Given the description of an element on the screen output the (x, y) to click on. 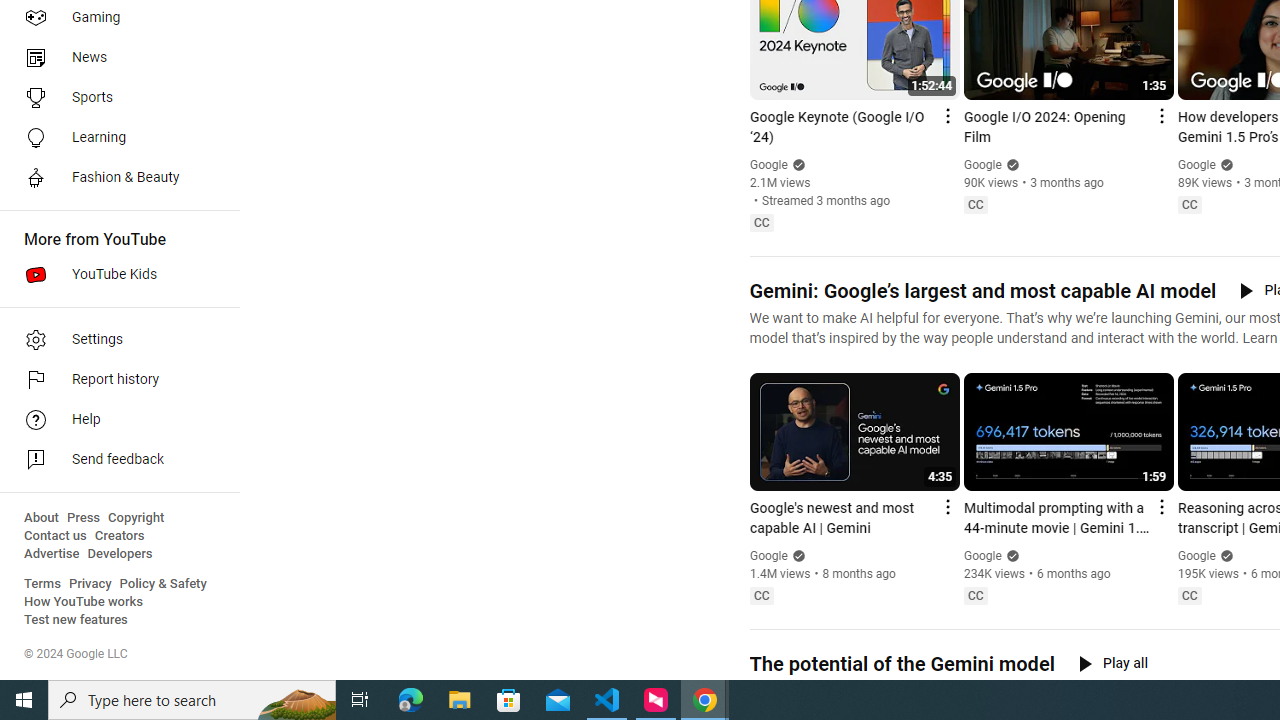
Sports (113, 97)
Copyright (136, 518)
Advertise (51, 554)
Report history (113, 380)
Creators (118, 536)
Press (83, 518)
News (113, 57)
